Given the description of an element on the screen output the (x, y) to click on. 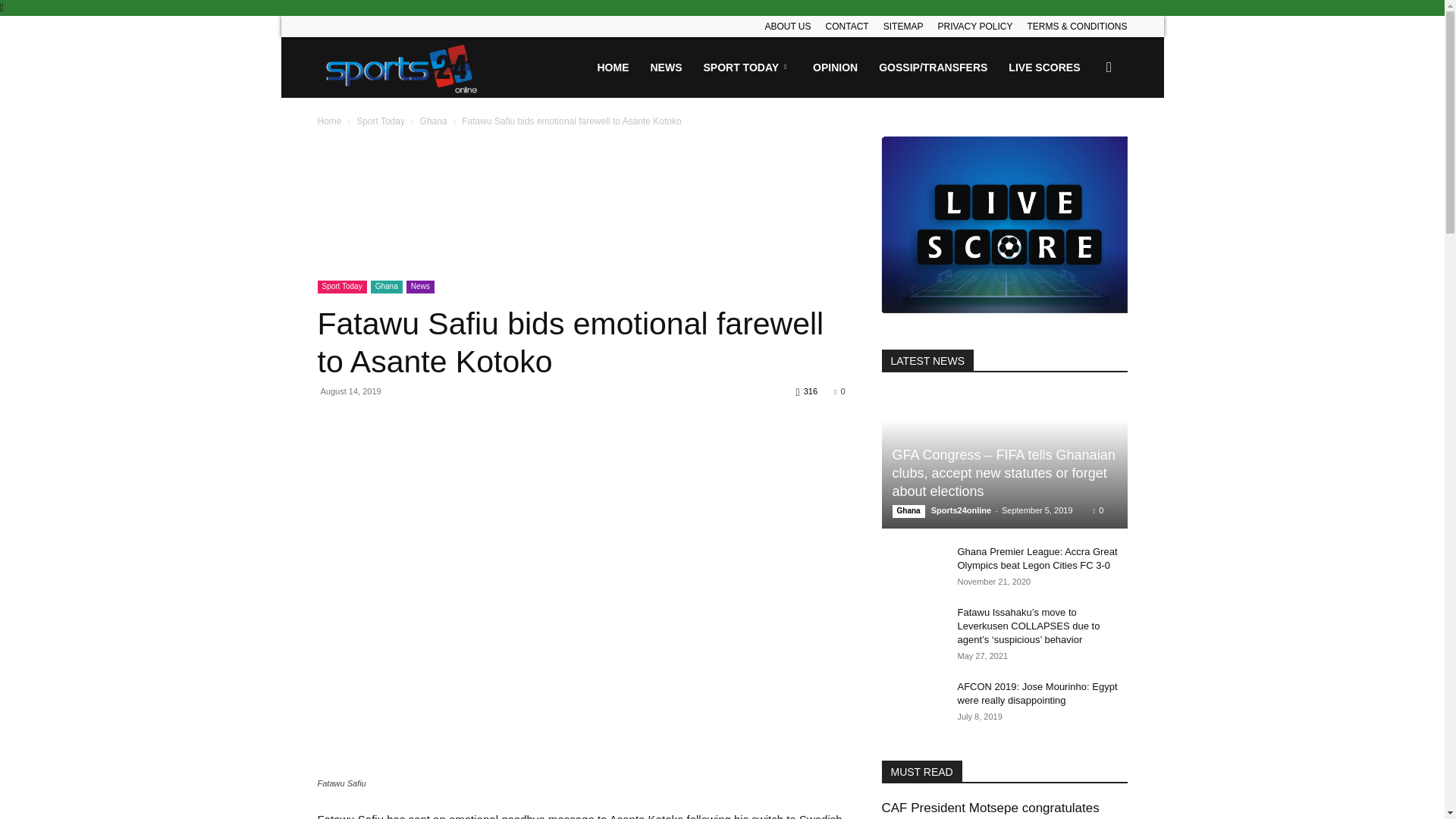
ABOUT US (787, 26)
Facebook (328, 25)
CONTACT (847, 26)
Search (1085, 139)
SITEMAP (903, 26)
Youtube (403, 25)
SPORT TODAY (748, 66)
Twitter (379, 25)
Instagram (353, 25)
PRIVACY POLICY (974, 26)
Sports24online (401, 67)
